Given the description of an element on the screen output the (x, y) to click on. 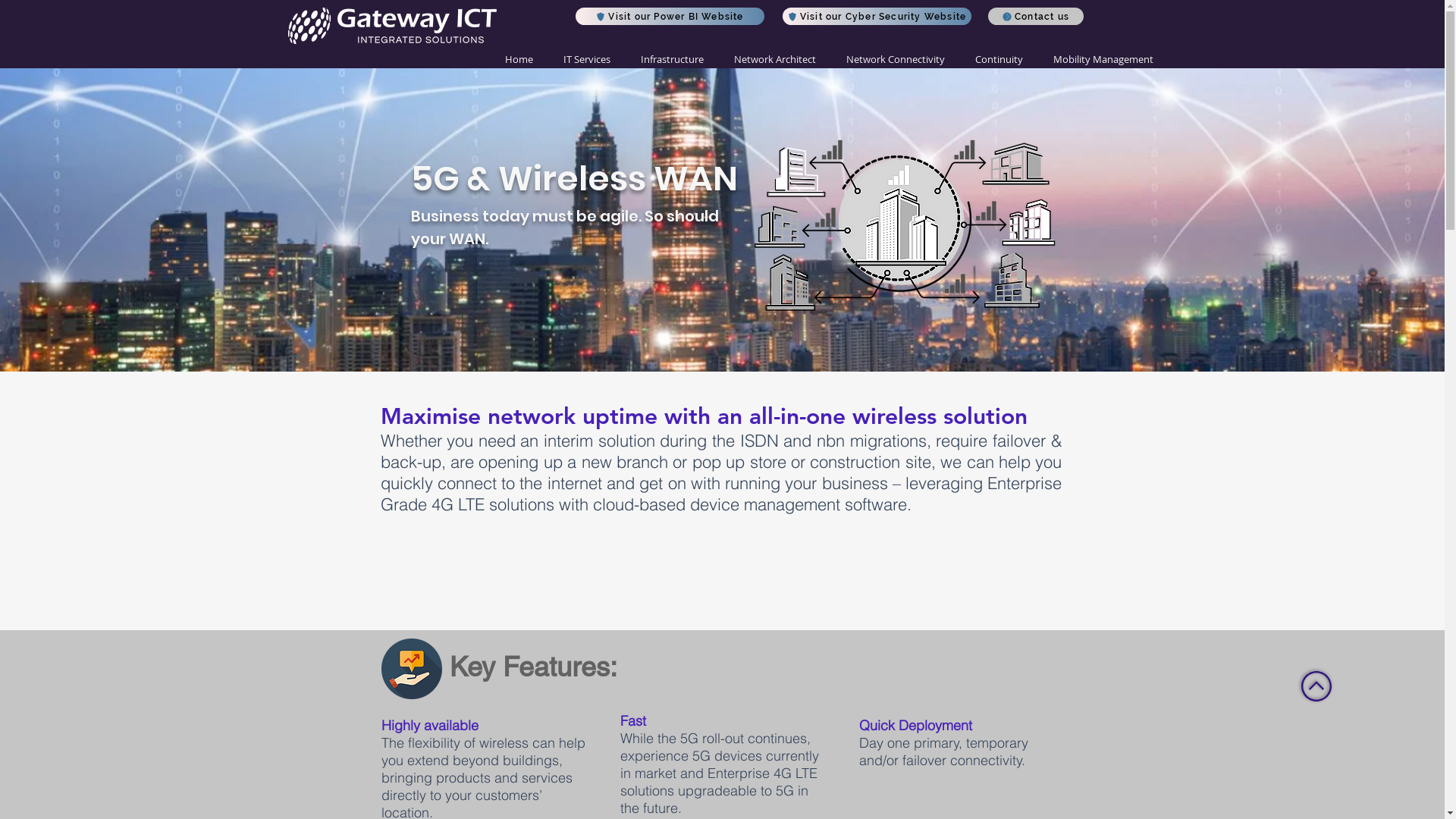
IT Services Element type: text (585, 59)
Visit our Power BI Website Element type: text (668, 16)
Contact us Element type: text (1034, 16)
Visit our Cyber Security Website Element type: text (876, 16)
Mobility Management Element type: text (1102, 59)
Continuity Element type: text (999, 59)
Home Element type: text (518, 59)
